Given the description of an element on the screen output the (x, y) to click on. 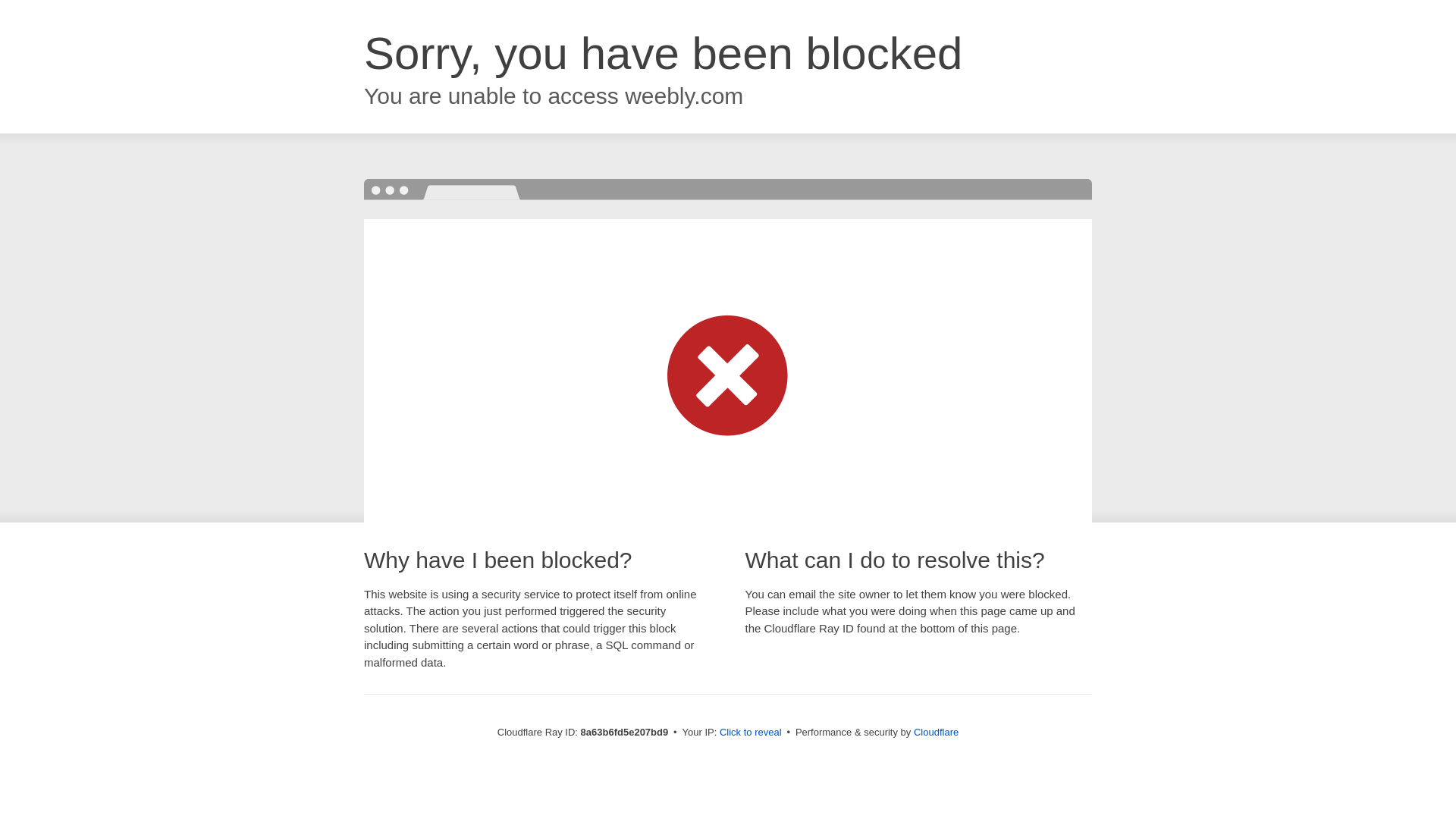
Cloudflare (936, 731)
Click to reveal (750, 732)
